Given the description of an element on the screen output the (x, y) to click on. 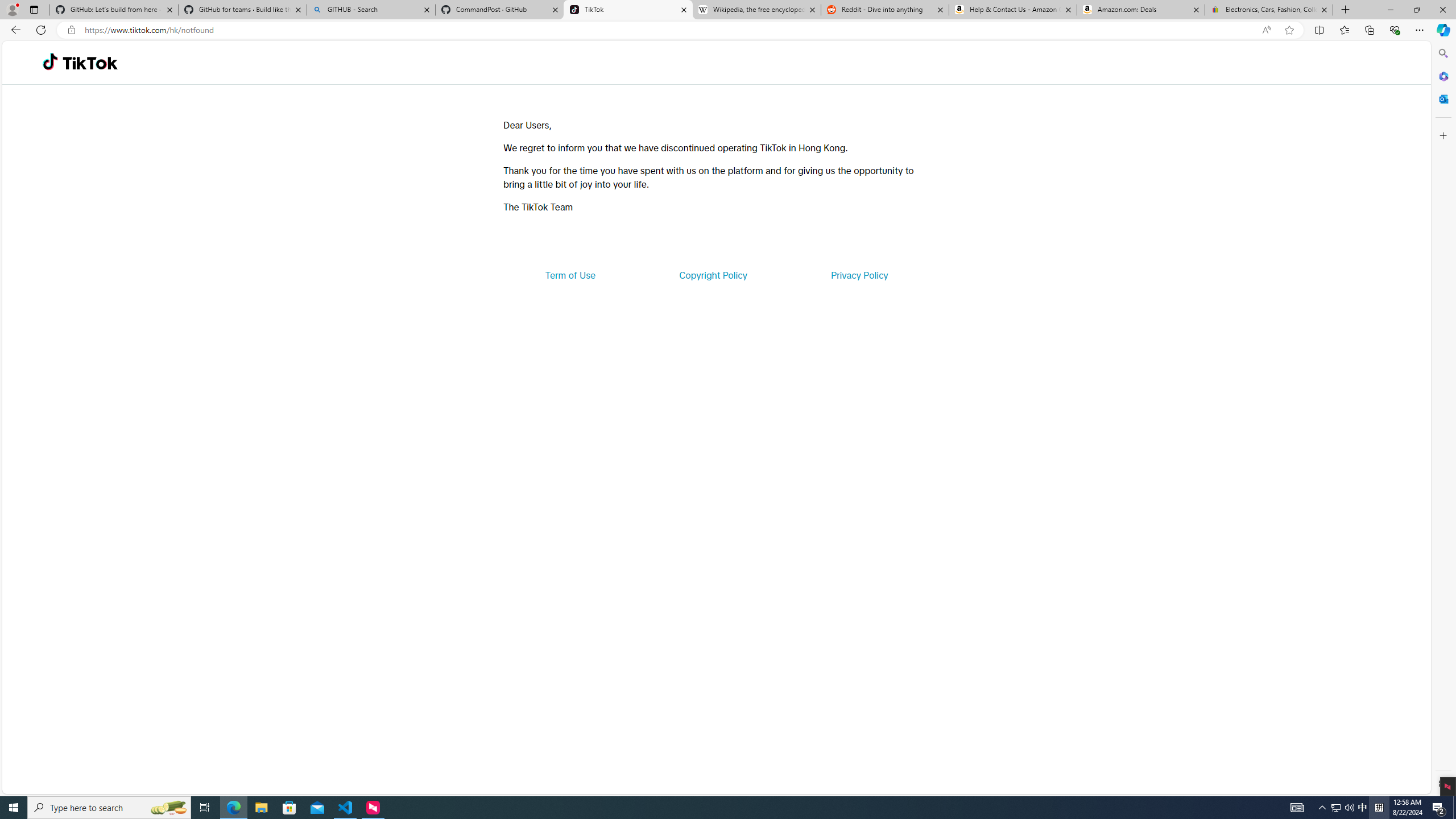
Wikipedia, the free encyclopedia (756, 9)
Reddit - Dive into anything (884, 9)
Term of Use (569, 274)
